Given the description of an element on the screen output the (x, y) to click on. 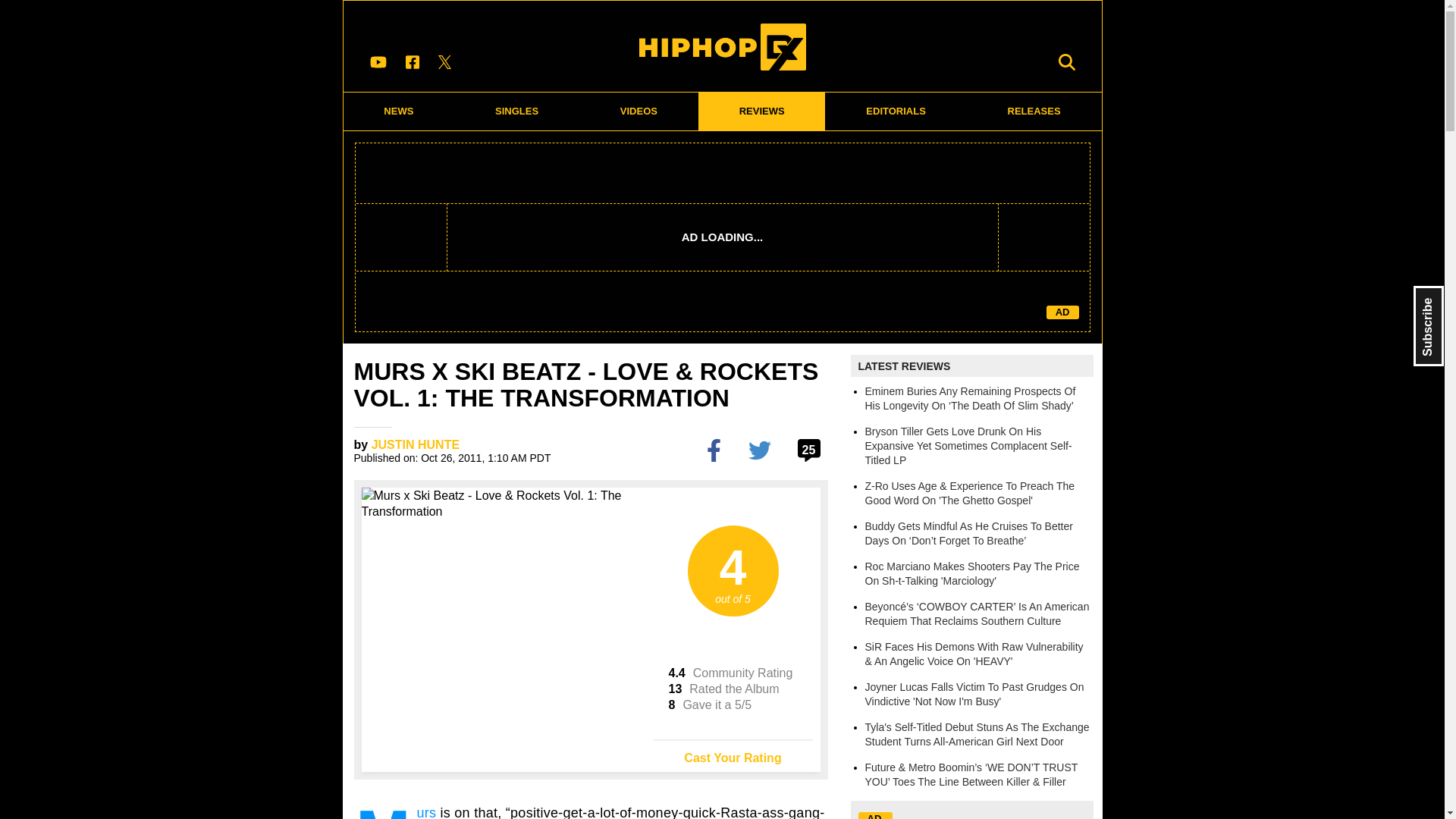
VIDEOS (638, 111)
RELEASES (1034, 111)
JUSTIN HUNTE (415, 444)
Murs (425, 812)
EDITORIALS (895, 111)
SINGLES (516, 111)
25 (810, 449)
NEWS (398, 111)
Cast Your Rating (732, 751)
REVIEWS (761, 111)
